Given the description of an element on the screen output the (x, y) to click on. 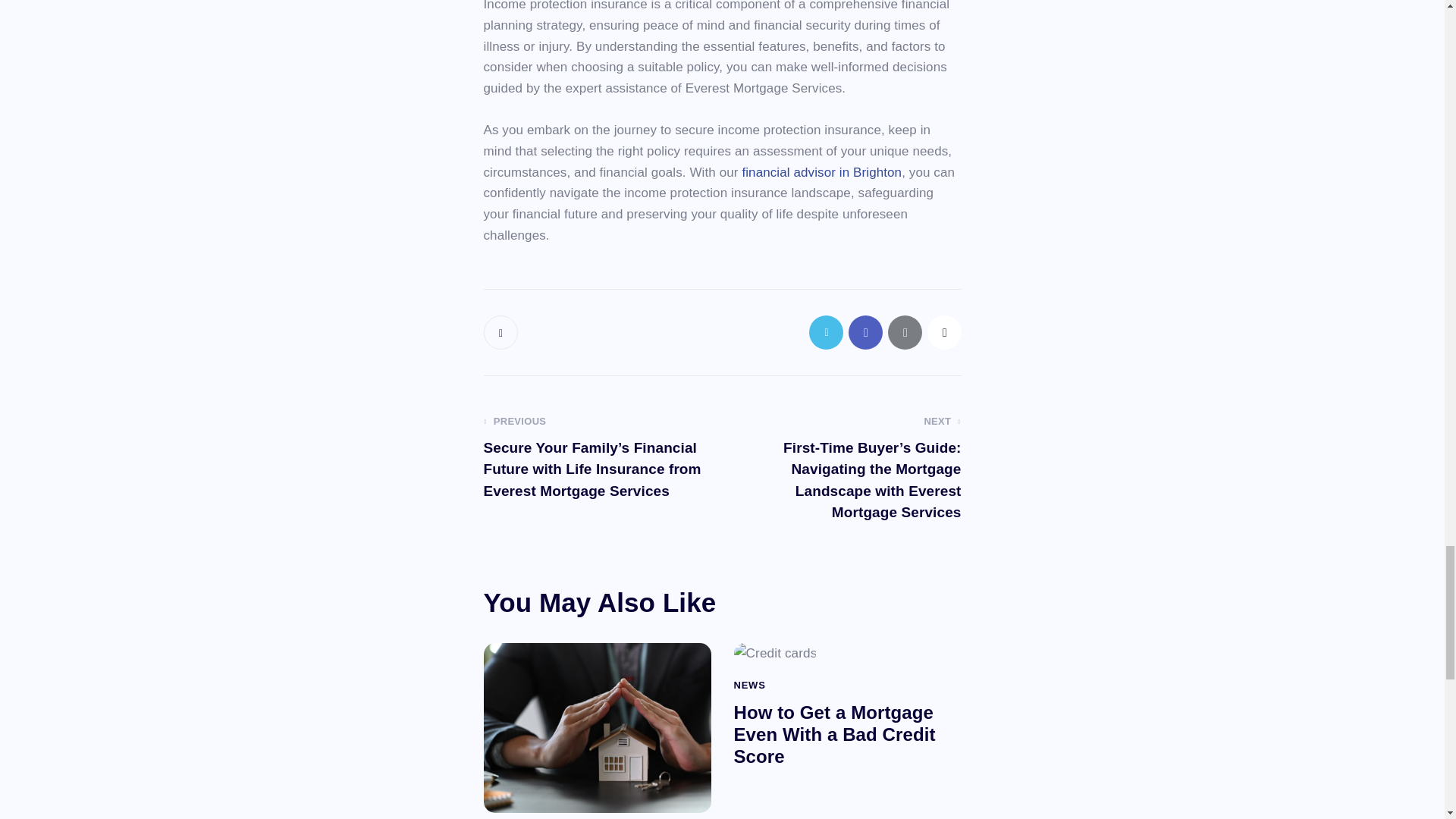
Like (502, 332)
Copy URL to clipboard (943, 332)
